Given the description of an element on the screen output the (x, y) to click on. 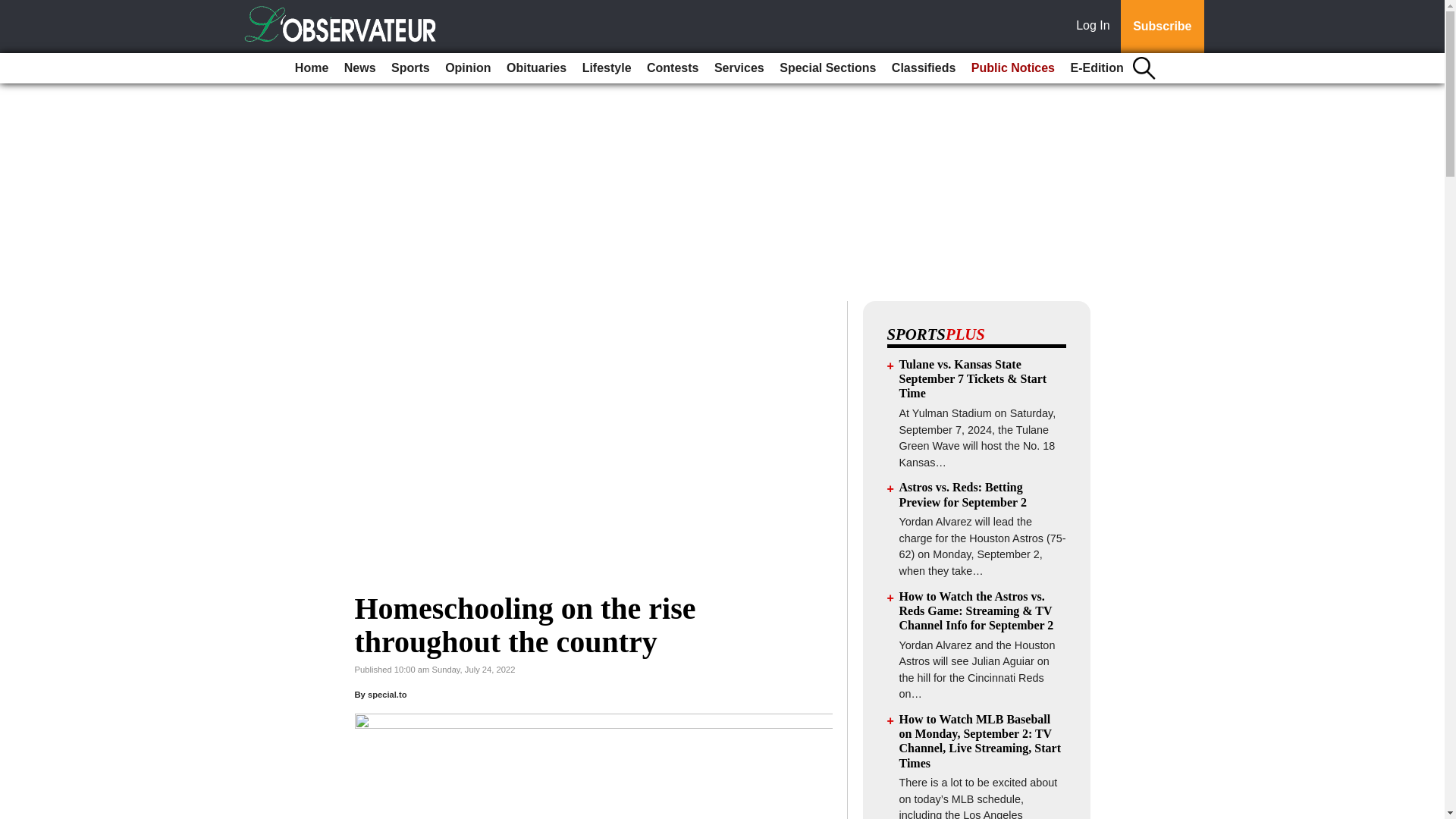
Log In (1095, 26)
Home (311, 68)
special.to (387, 694)
Sports (410, 68)
Go (13, 9)
News (359, 68)
Obituaries (536, 68)
Contests (672, 68)
Astros vs. Reds: Betting Preview for September 2 (962, 493)
Subscribe (1162, 26)
